Given the description of an element on the screen output the (x, y) to click on. 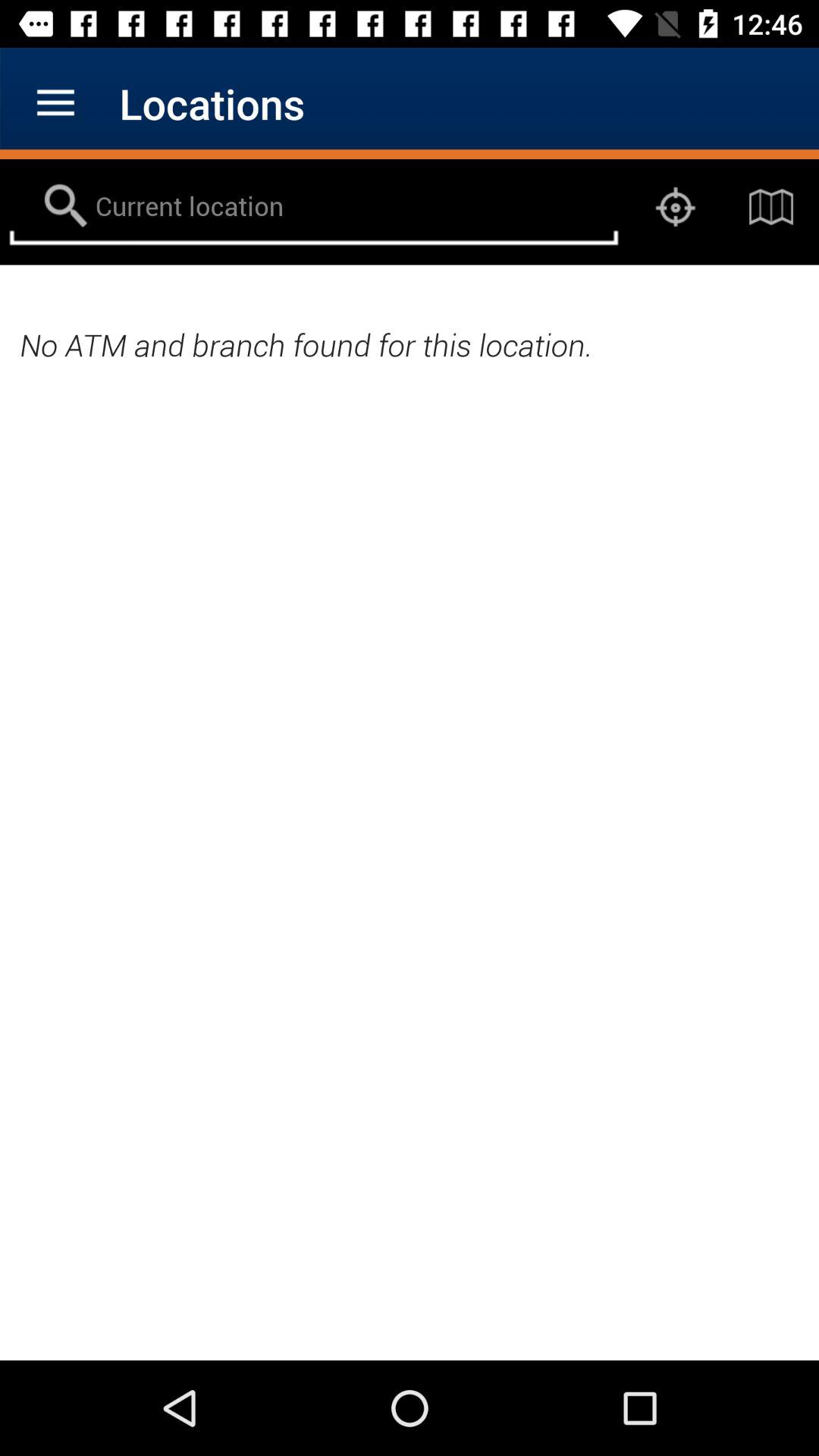
search text box (313, 206)
